Given the description of an element on the screen output the (x, y) to click on. 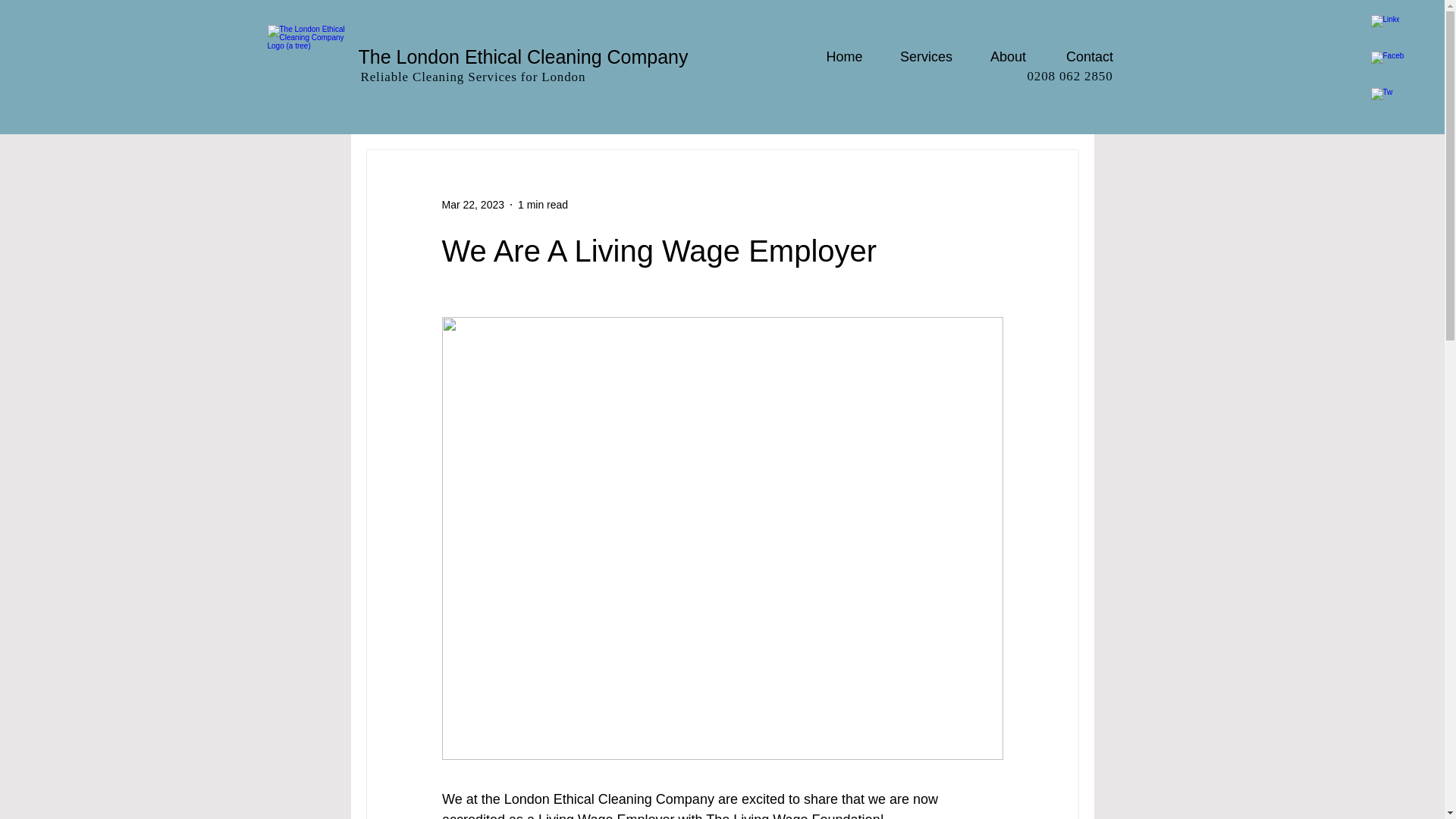
0208 062 2850 (1069, 75)
About (1008, 56)
Services (926, 56)
Home (844, 56)
Reliable Cleaning Services for London (473, 76)
The London Ethical Cleaning Company (522, 56)
1 min read (542, 204)
Mar 22, 2023 (472, 204)
Contact (1090, 56)
